Given the description of an element on the screen output the (x, y) to click on. 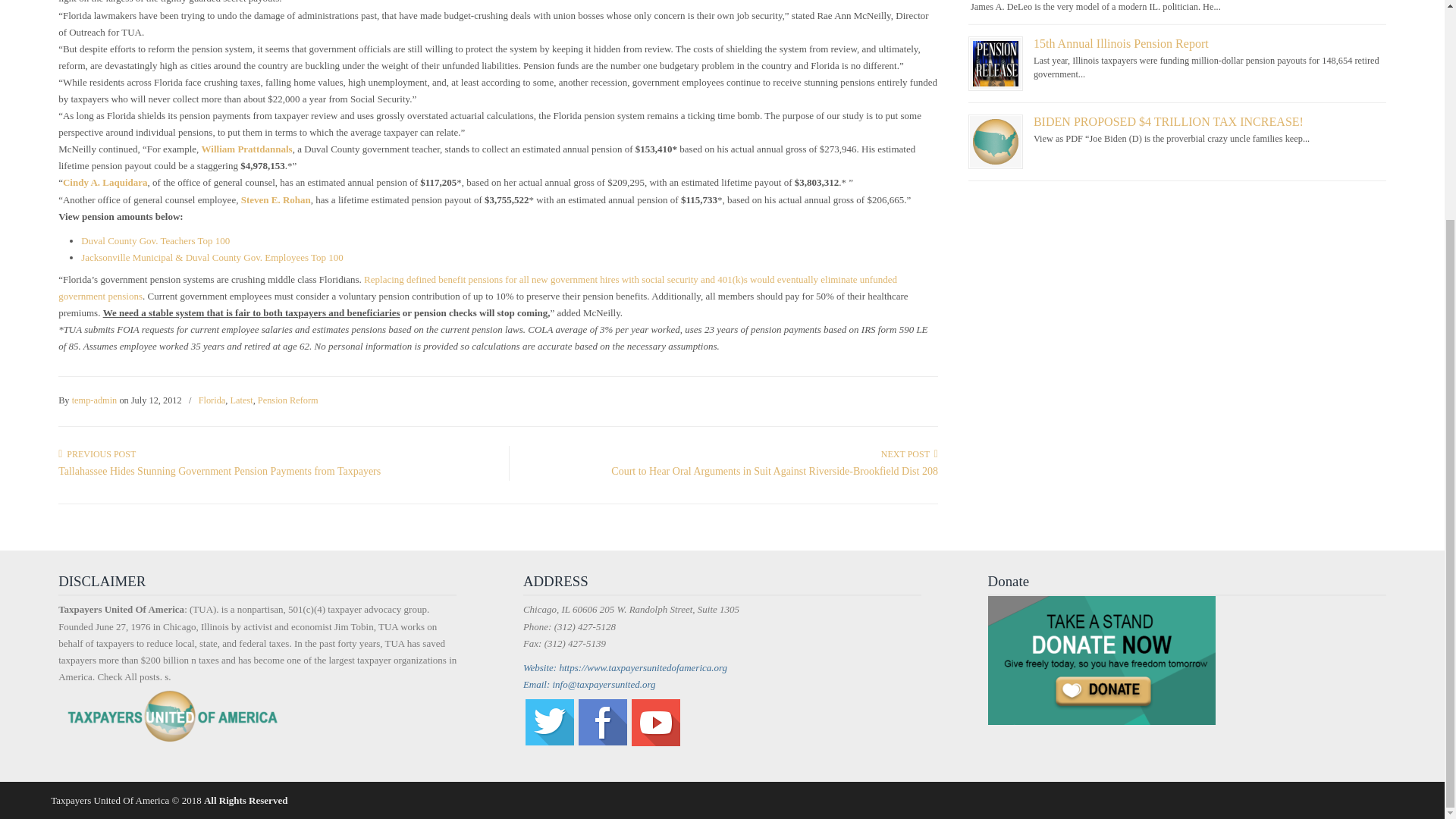
Go to next post (908, 453)
Go to previous post (96, 453)
15th Annual Illinois Pension Report (994, 62)
Posts by temp-admin (94, 400)
Twitter (549, 741)
15th Annual Illinois Pension Report (1120, 42)
Facebook (602, 741)
Youtube (655, 742)
